Given the description of an element on the screen output the (x, y) to click on. 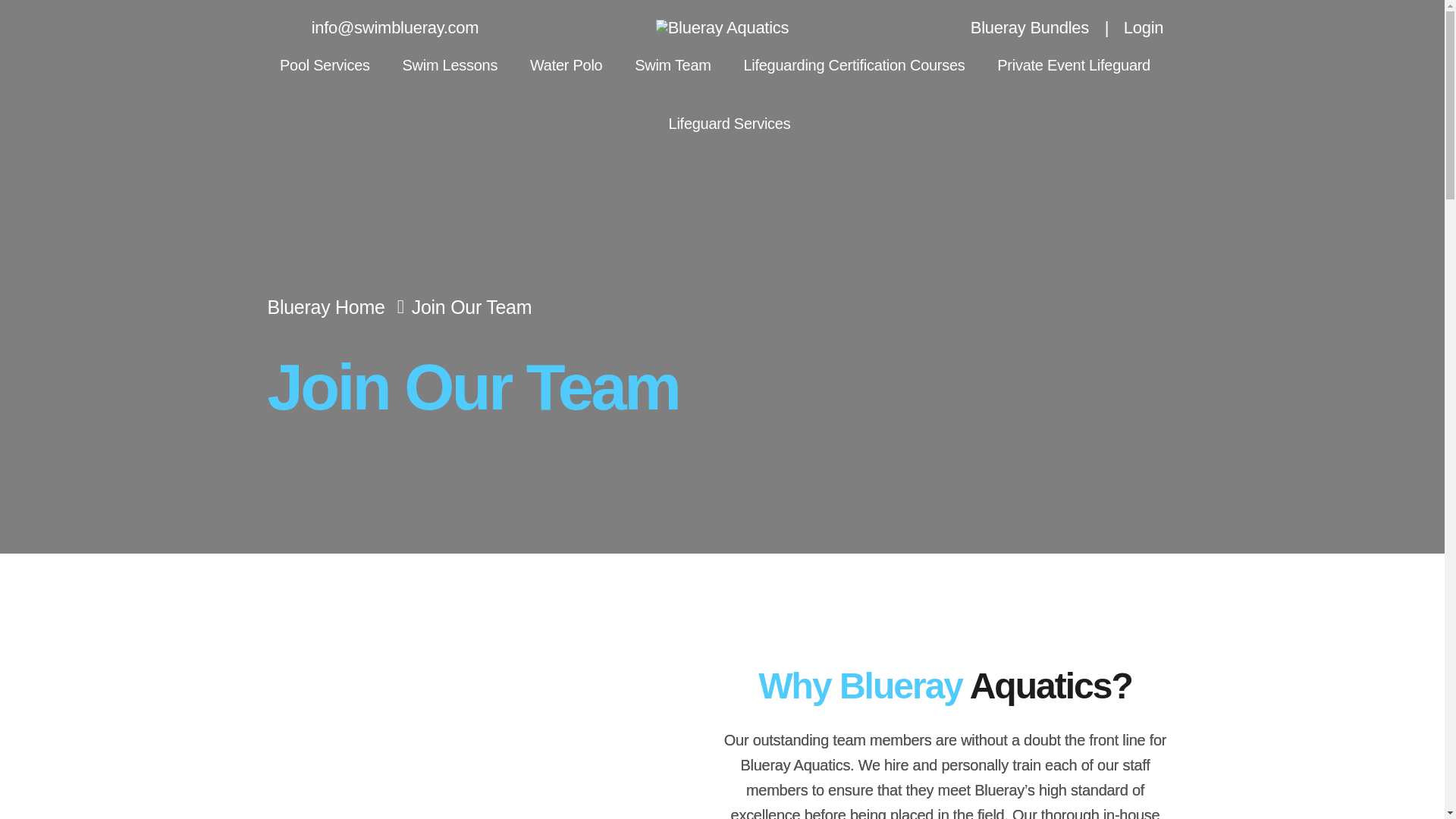
Lifeguarding Certification Courses (852, 64)
Blueray Home (338, 306)
Pool Services (324, 64)
Lifeguard Services (729, 123)
Swim Team (672, 64)
Blueray Bundles (1014, 27)
Water Polo (565, 64)
Private Event Lifeguard (1073, 64)
Login (1134, 27)
Swim Lessons (449, 64)
